Given the description of an element on the screen output the (x, y) to click on. 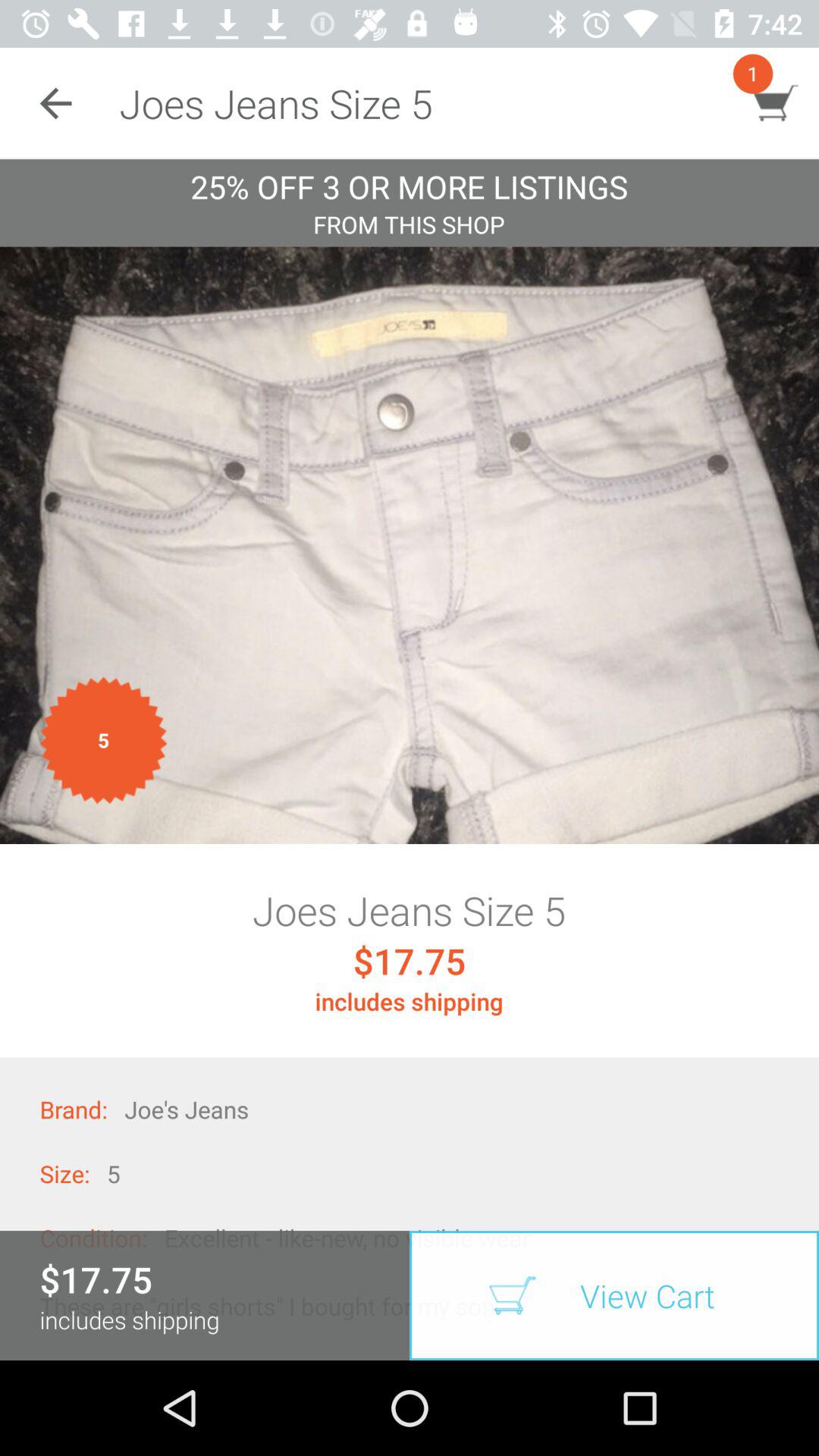
subject image (409, 545)
